Given the description of an element on the screen output the (x, y) to click on. 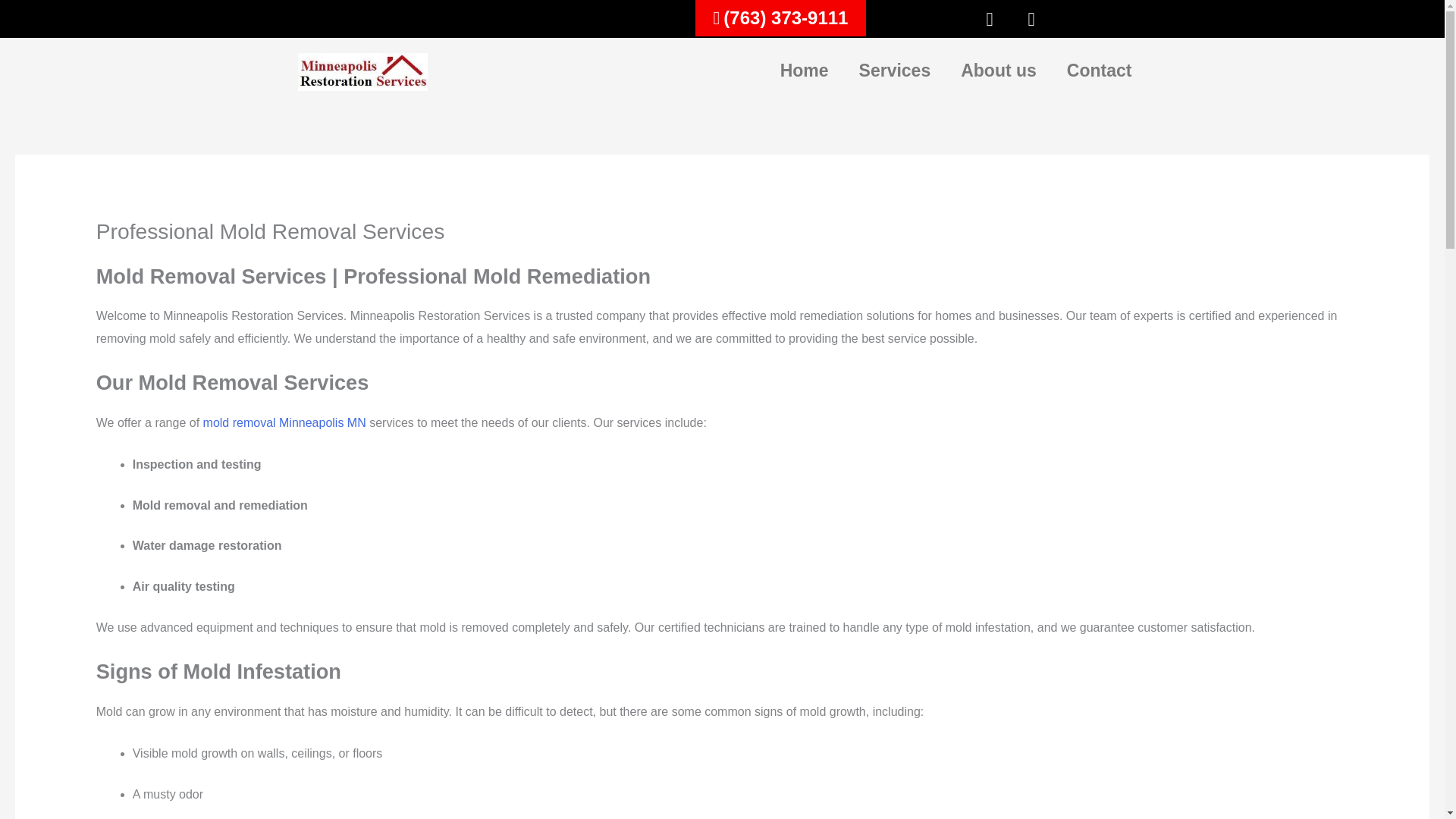
Facebook (990, 18)
Services (895, 70)
Contact (1099, 70)
Twitter (1030, 18)
About us (997, 70)
Home (804, 70)
mold removal Minneapolis MN (284, 422)
